Given the description of an element on the screen output the (x, y) to click on. 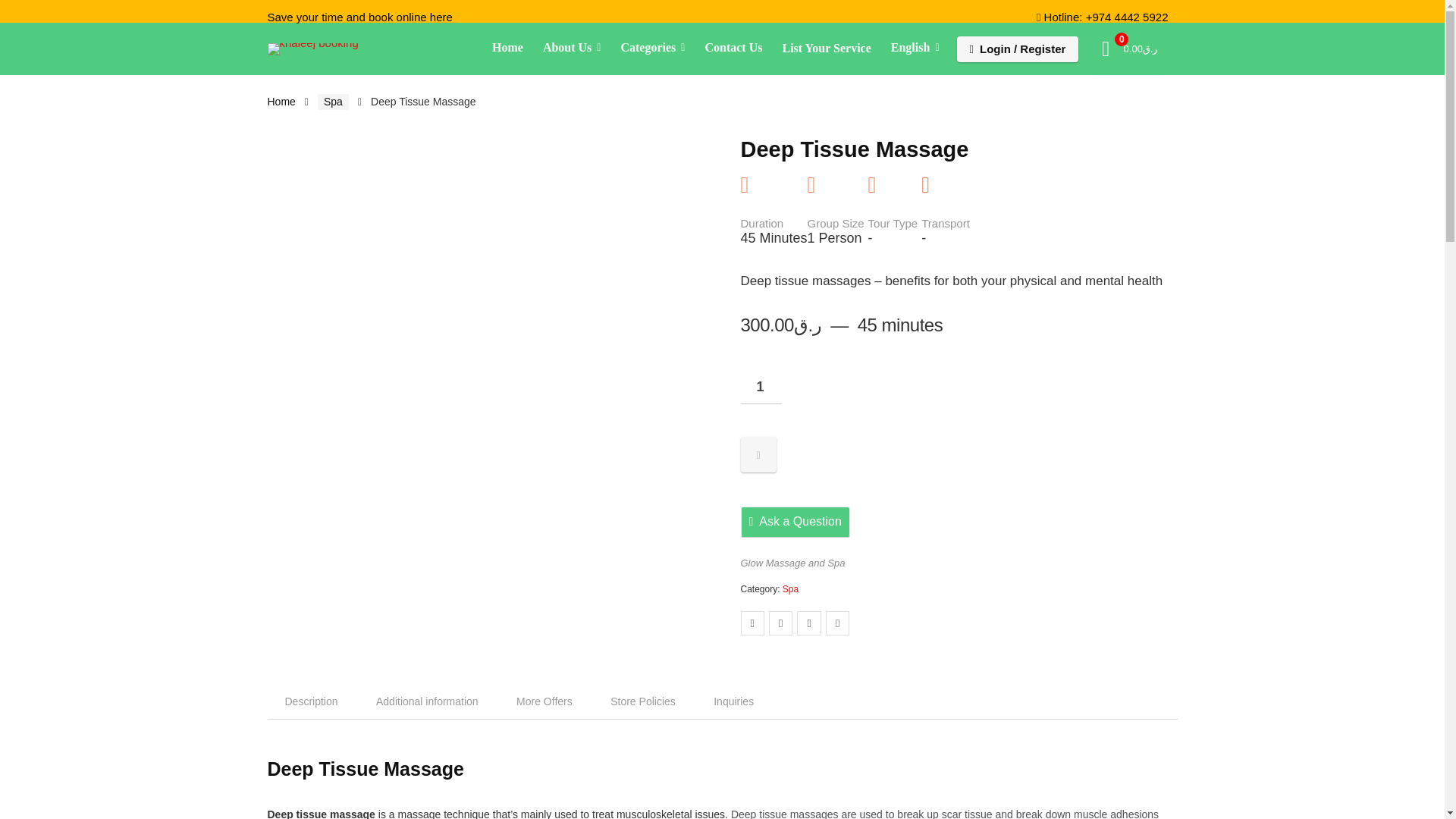
About Us (571, 48)
English (914, 48)
1 (759, 387)
Home (506, 48)
Categories (652, 48)
